Given the description of an element on the screen output the (x, y) to click on. 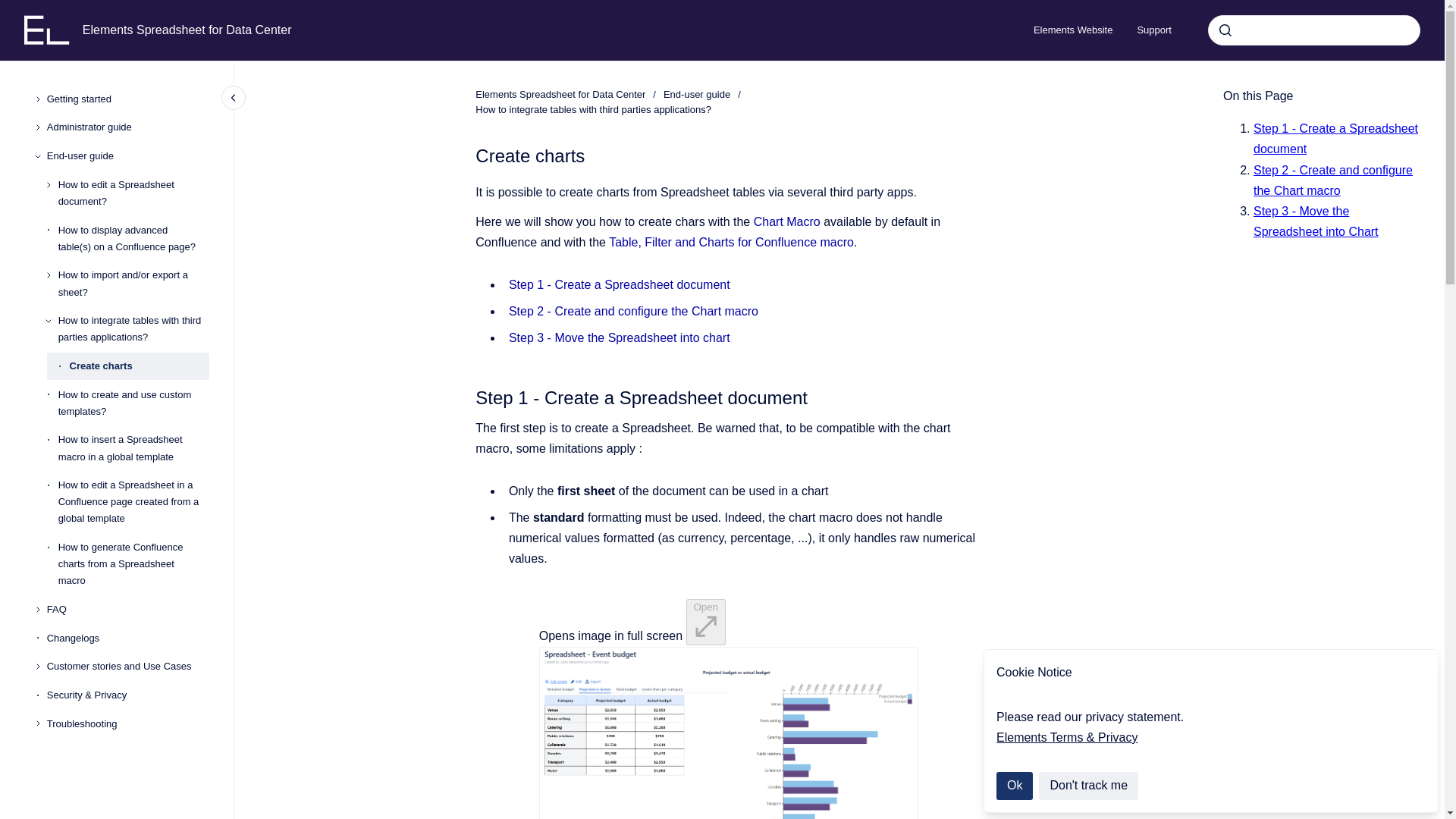
Elements Spreadsheet for Data Center (187, 29)
How to edit a Spreadsheet document? (133, 193)
Changelogs (127, 637)
Go to homepage (46, 30)
Elements Spreadsheet for Data Center (560, 94)
Administrator guide (127, 127)
How to create and use custom templates? (133, 403)
FAQ (127, 609)
End-user guide (127, 155)
How to insert a Spreadsheet macro in a global template (133, 448)
How to generate Confluence charts from a Spreadsheet macro (133, 563)
Don't track me (1088, 786)
Elements Website (1073, 29)
Troubleshooting (127, 723)
